Given the description of an element on the screen output the (x, y) to click on. 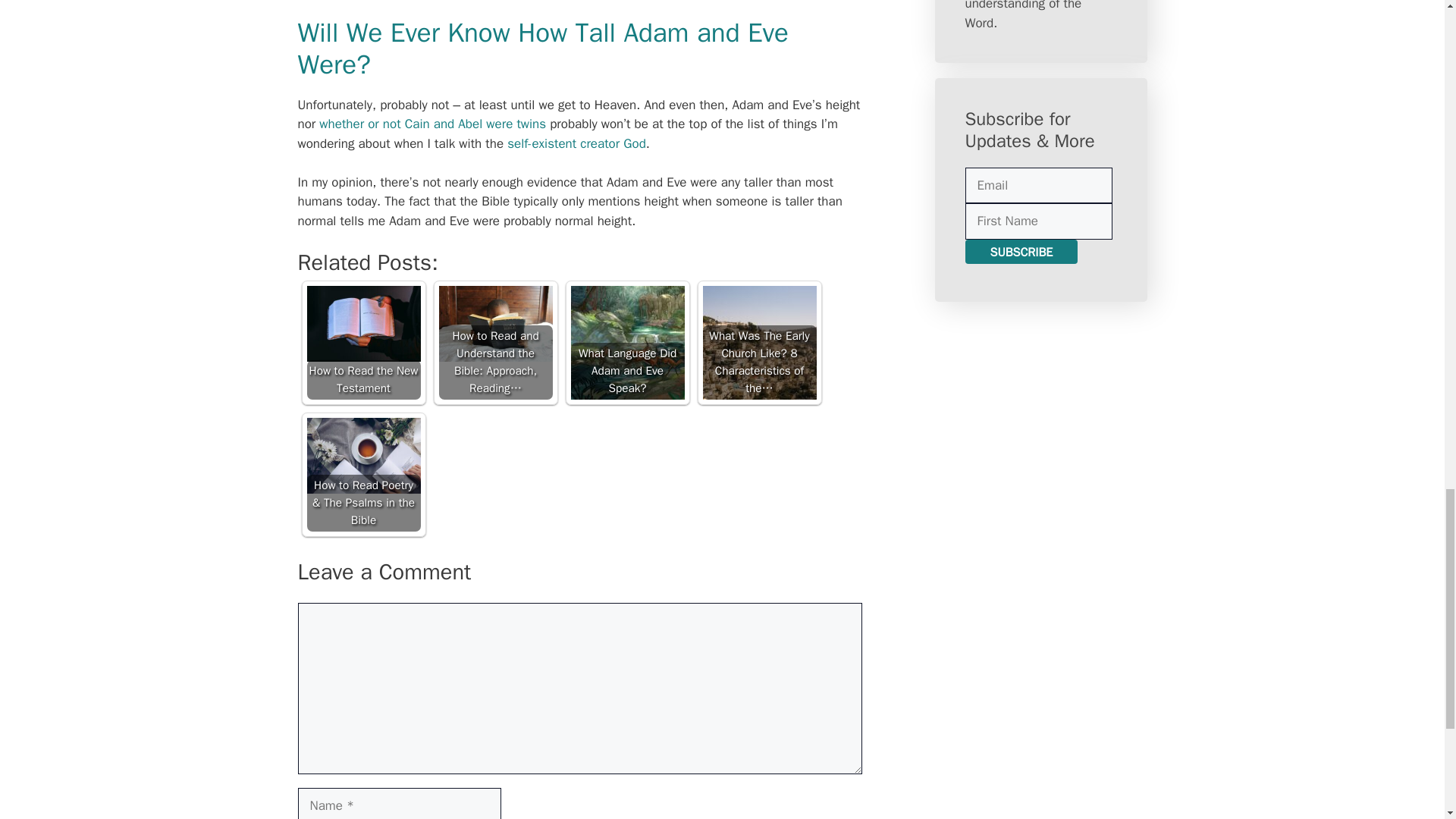
self-existent creator God (576, 143)
How to Read the New Testament (362, 342)
What Language Did Adam and Eve Speak? (627, 342)
Subscribe (1020, 251)
How to Read the New Testament (362, 323)
whether or not Cain and Abel were twins (432, 123)
